Given the description of an element on the screen output the (x, y) to click on. 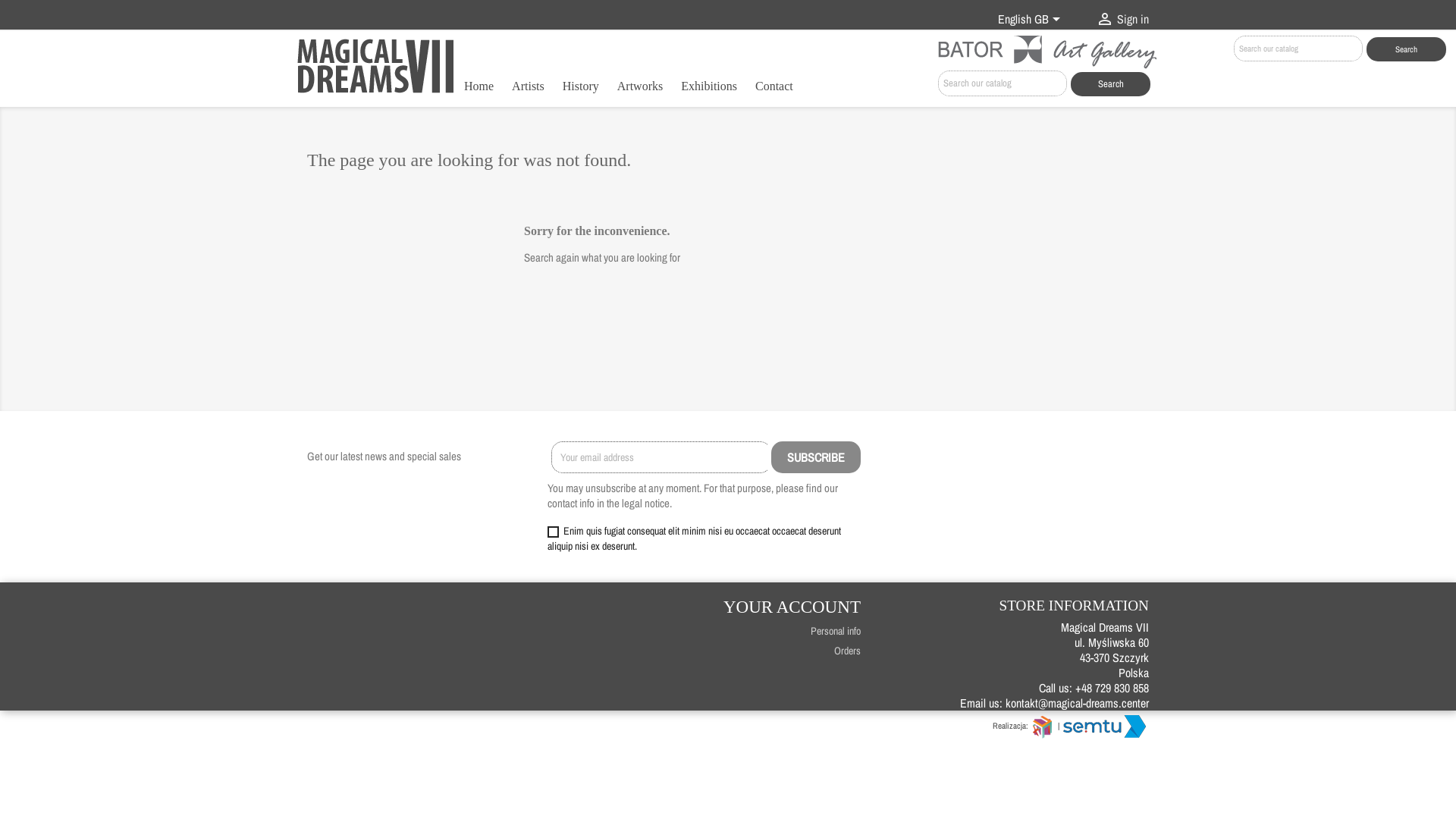
Orders Element type: text (847, 650)
Contact Element type: text (773, 87)
kontakt@magical-dreams.center Element type: text (1076, 702)
Artists Element type: text (528, 87)
Realizacja: hexade.com Element type: hover (1042, 725)
Realizacja: semtu.pl Element type: hover (1104, 725)
YOUR ACCOUNT Element type: text (791, 606)
Artworks Element type: text (639, 87)
History Element type: text (580, 87)
Personal info Element type: text (835, 630)
Exhibitions Element type: text (708, 87)
Search Element type: text (1110, 84)
Search Element type: text (1406, 49)
Subscribe Element type: text (815, 457)
Home Element type: text (478, 87)
